Given the description of an element on the screen output the (x, y) to click on. 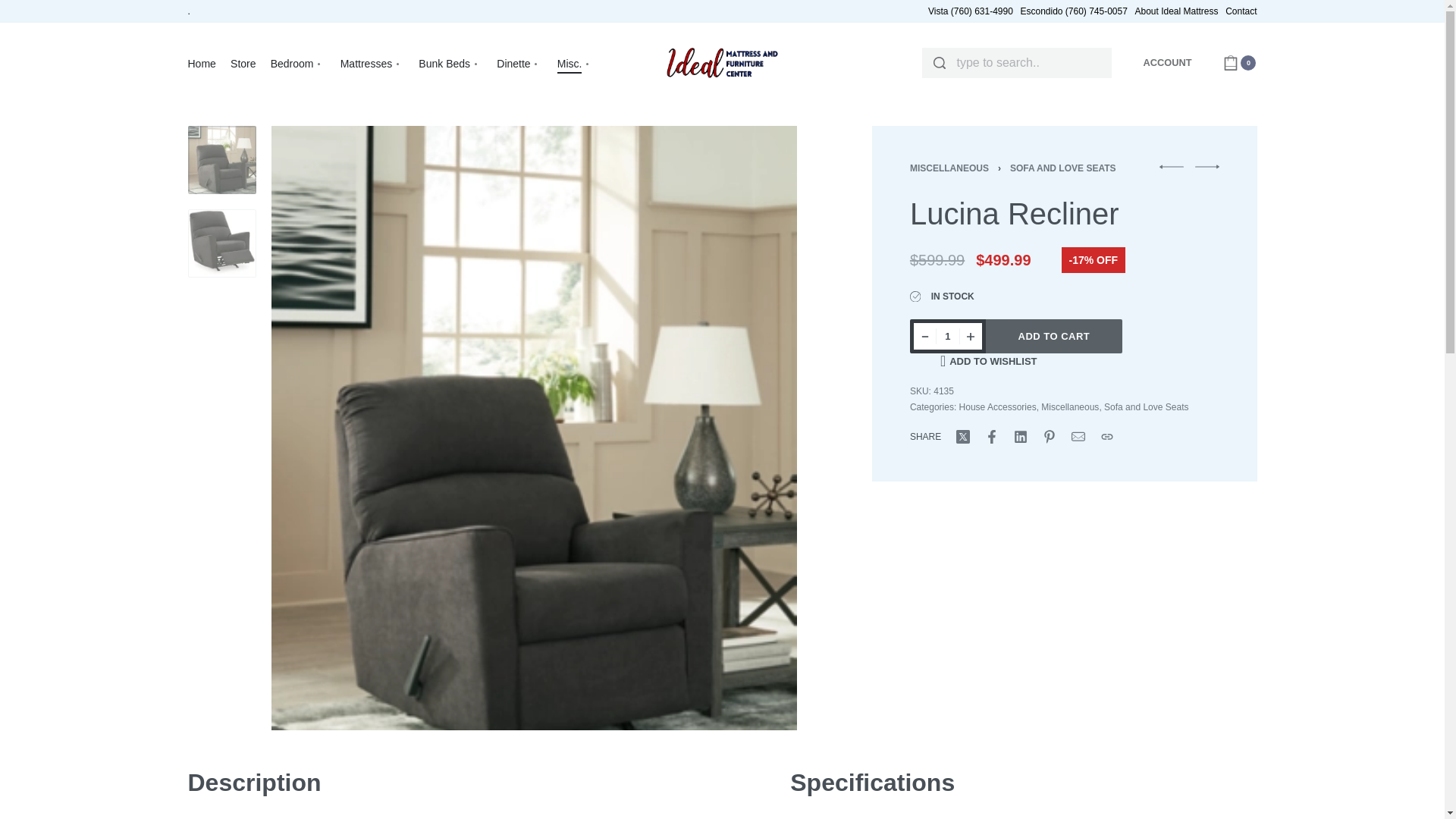
Bedroom (298, 64)
Bunk Beds (450, 64)
Home (201, 64)
1 (947, 335)
Contact (1240, 11)
Store (243, 64)
Mattresses (372, 64)
About Ideal Mattress (1175, 11)
Abinger Sofa Sleeper (1170, 166)
Dinette (518, 64)
